Given the description of an element on the screen output the (x, y) to click on. 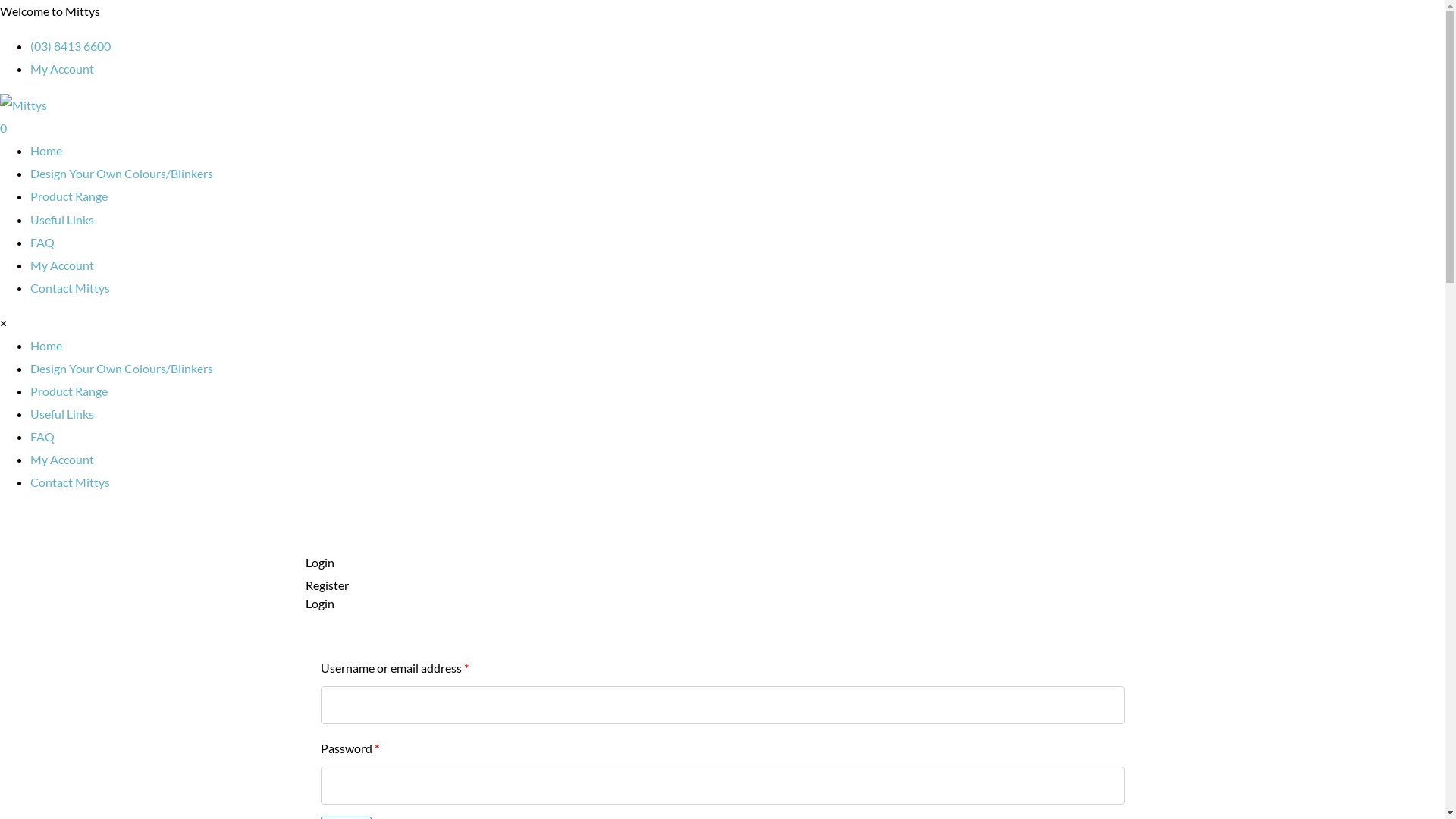
0 Element type: text (3, 127)
Contact Mittys Element type: text (69, 287)
Product Range Element type: text (68, 390)
Contact Mittys Element type: text (69, 481)
Useful Links Element type: text (62, 413)
Product Range Element type: text (68, 195)
Home Element type: text (46, 345)
FAQ Element type: text (42, 436)
My Account Element type: text (62, 264)
My Account Element type: text (62, 68)
Useful Links Element type: text (62, 219)
My Account Element type: text (62, 458)
(03) 8413 6600 Element type: text (70, 45)
Design Your Own Colours/Blinkers Element type: text (121, 367)
FAQ Element type: text (42, 242)
Design Your Own Colours/Blinkers Element type: text (121, 173)
Home Element type: text (46, 150)
